Given the description of an element on the screen output the (x, y) to click on. 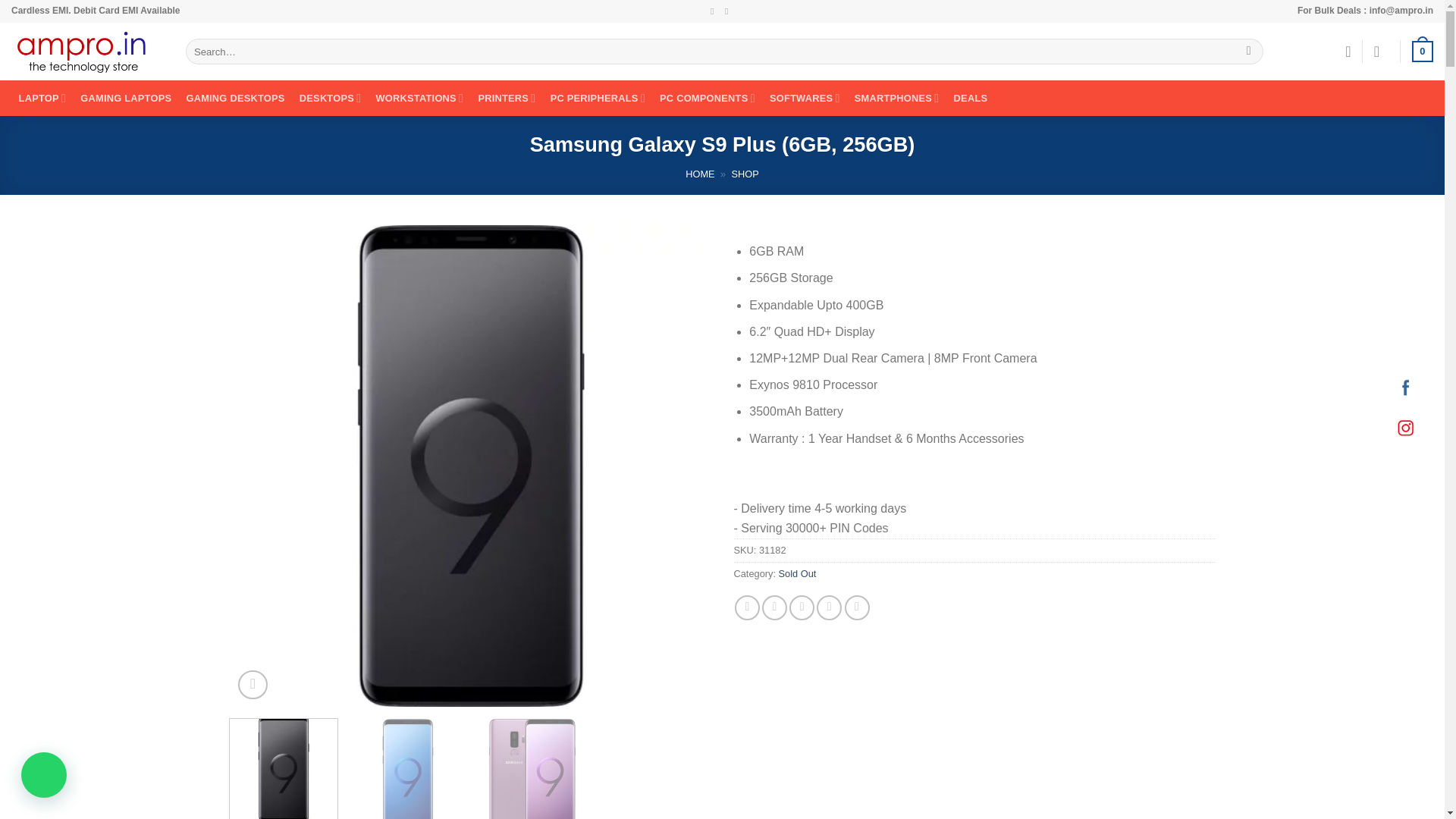
GAMING DESKTOPS (235, 98)
Zoom (252, 685)
Search (1248, 51)
DESKTOPS (330, 98)
WORKSTATIONS (419, 98)
Email to a Friend (801, 607)
Pin on Pinterest (828, 607)
Share on LinkedIn (856, 607)
Share on Facebook (747, 607)
Share on Twitter (774, 607)
GAMING LAPTOPS (126, 98)
LAPTOP (42, 98)
